Given the description of an element on the screen output the (x, y) to click on. 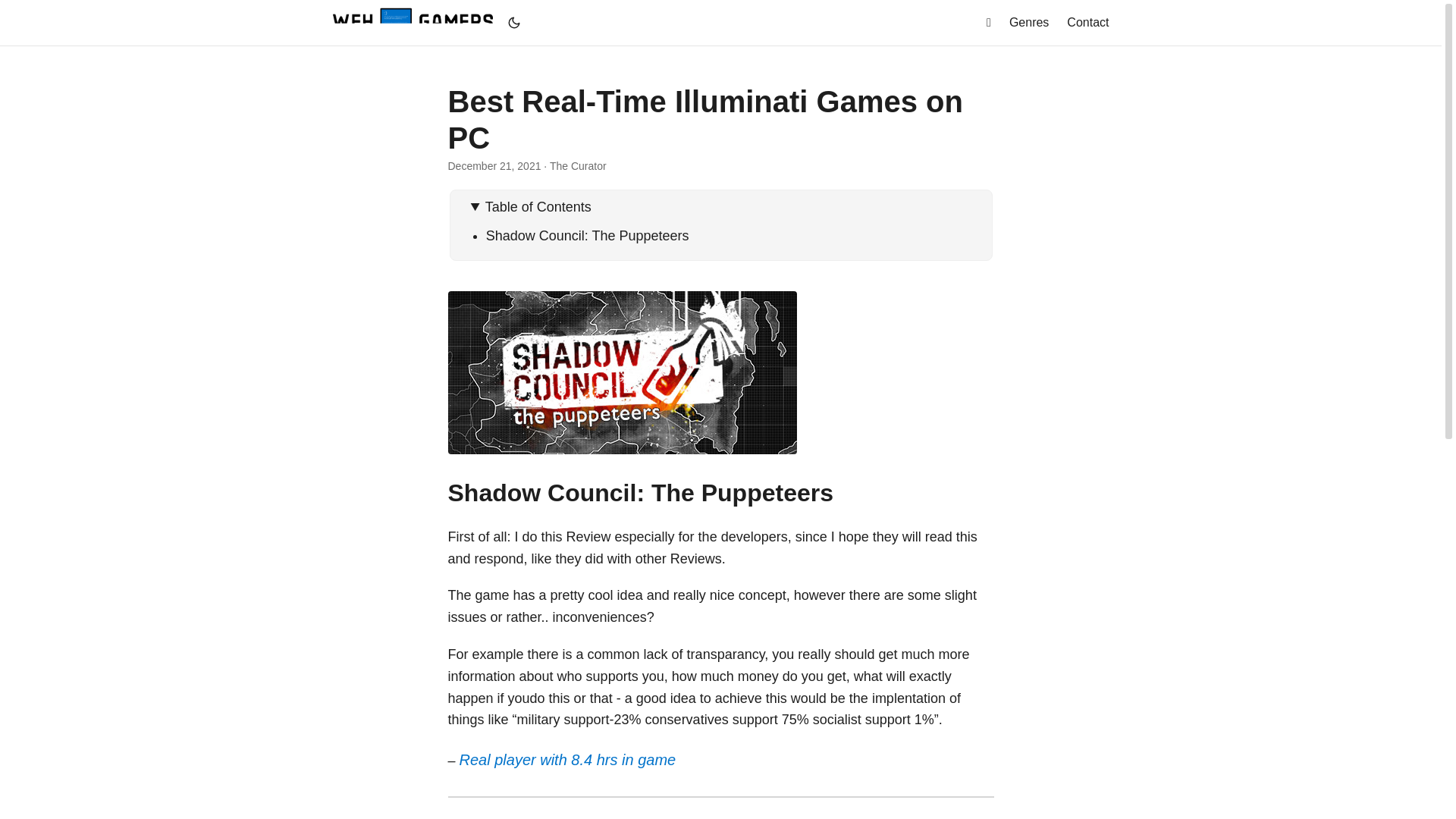
Contact (1087, 22)
Real player with 8.4 hrs in game (568, 759)
Contact (1087, 22)
Shadow Council: The Puppeteers (587, 235)
